Given the description of an element on the screen output the (x, y) to click on. 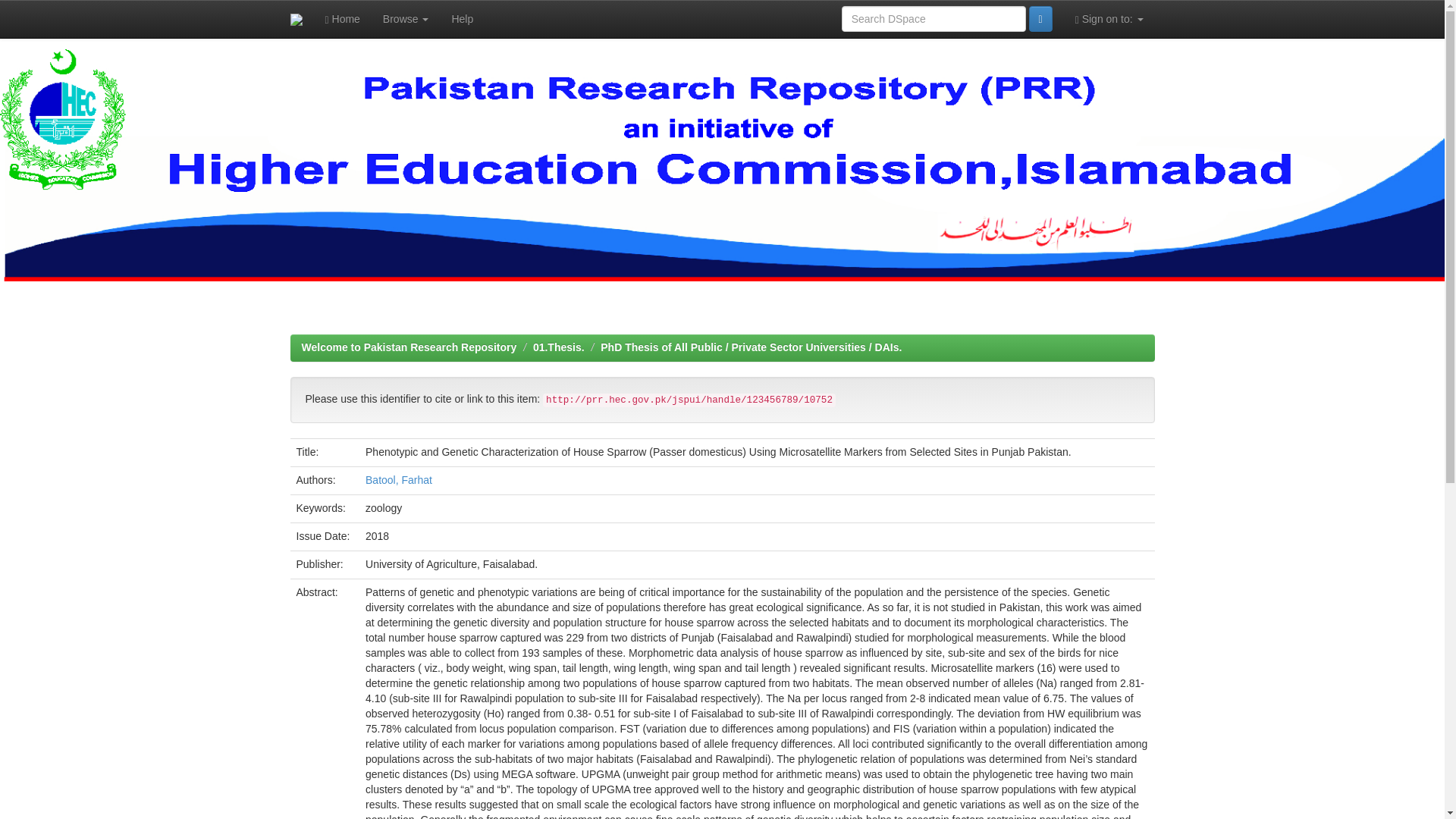
Home (342, 18)
Sign on to: (1109, 18)
Help (461, 18)
01.Thesis. (558, 346)
Batool, Farhat (398, 480)
Welcome to Pakistan Research Repository (408, 346)
Browse (406, 18)
